Given the description of an element on the screen output the (x, y) to click on. 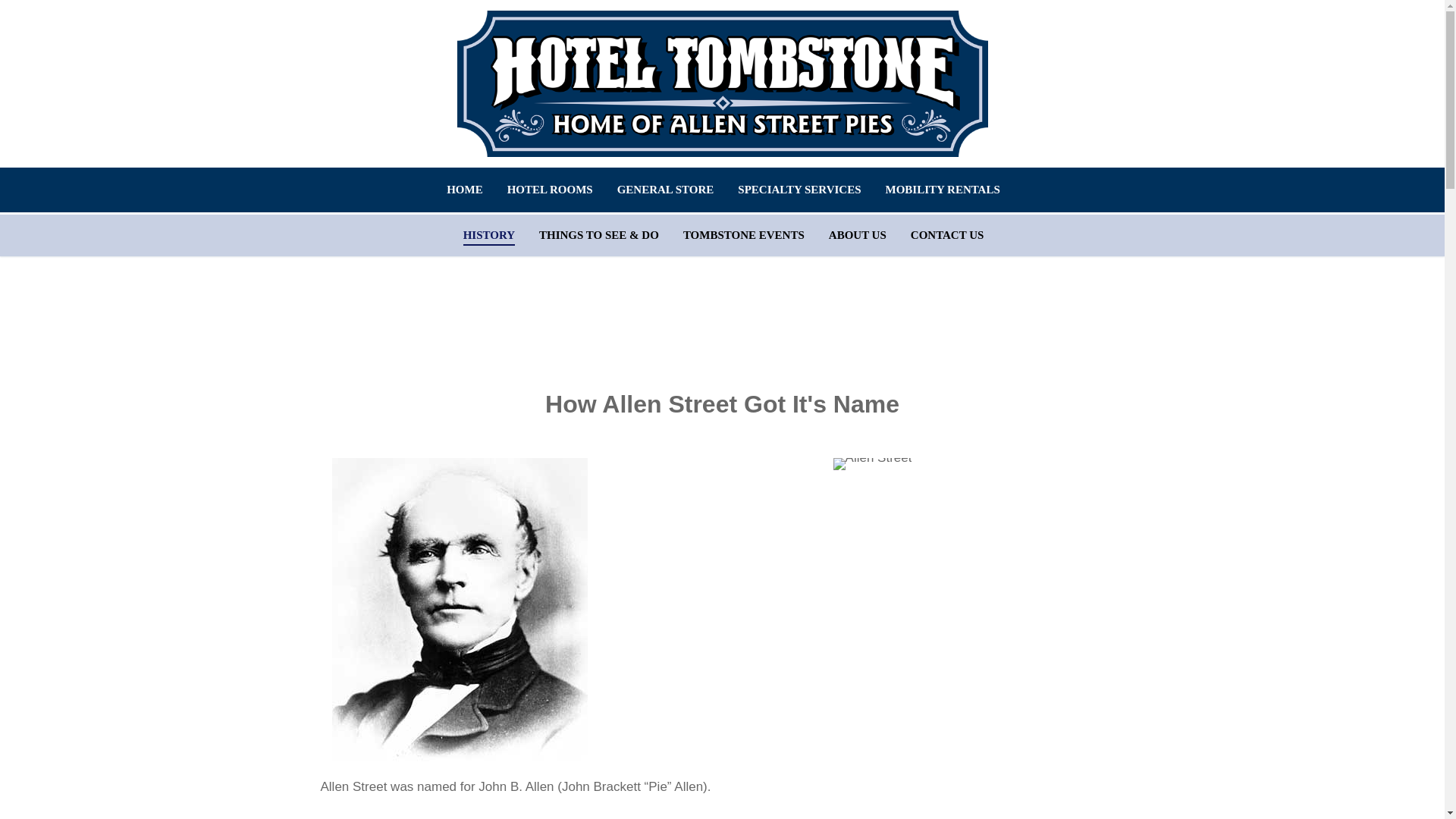
CONTACT US (947, 235)
MOBILITY RENTALS (943, 189)
TOMBSTONE EVENTS (742, 235)
HOTEL ROOMS (549, 189)
GENERAL STORE (665, 189)
HISTORY (488, 235)
SPECIALTY SERVICES (799, 189)
ABOUT US (857, 235)
Allen Street (872, 463)
HOME (464, 189)
